Given the description of an element on the screen output the (x, y) to click on. 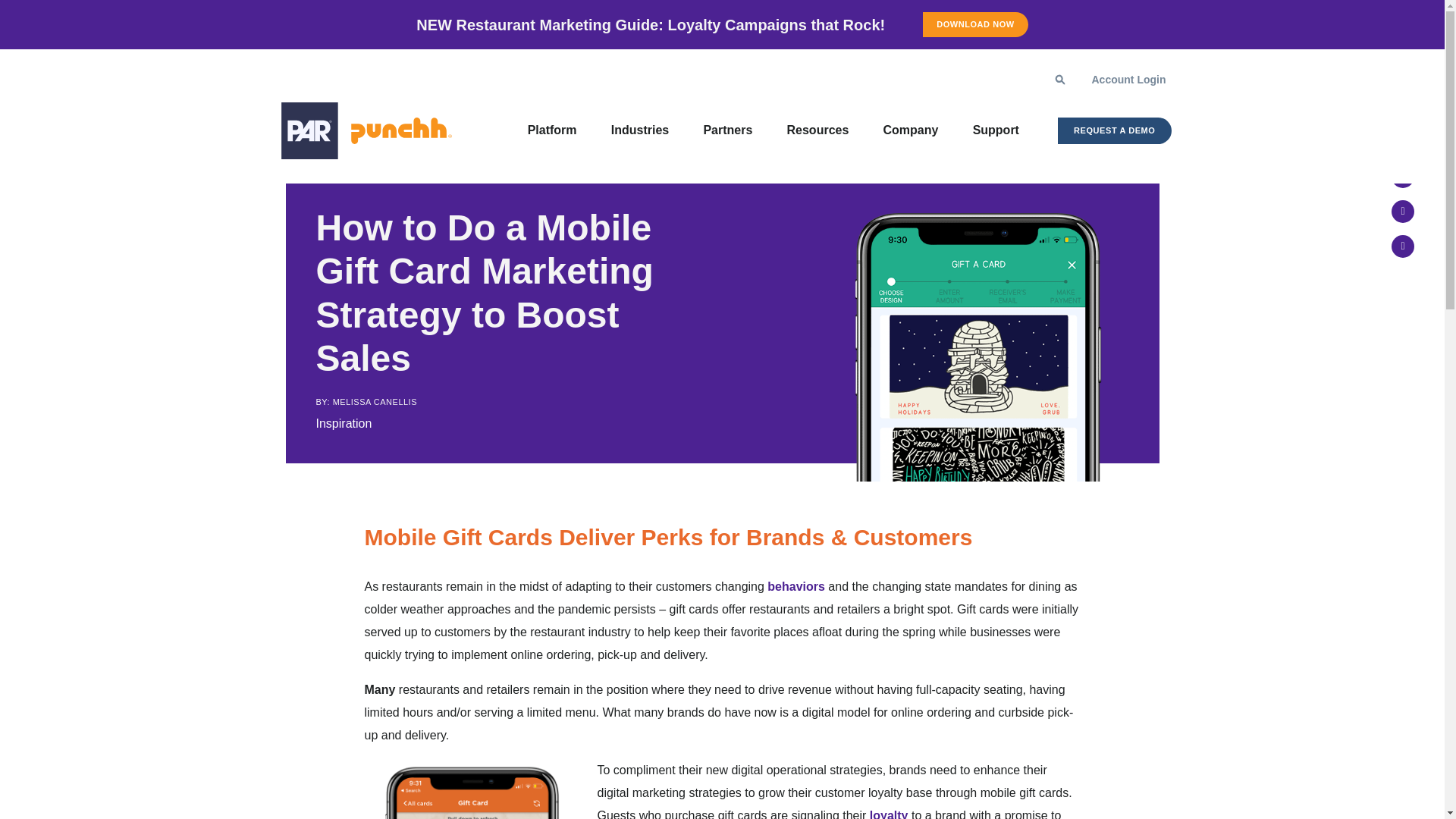
REQUEST A DEMO (1115, 130)
DOWNLOAD NOW (956, 24)
Resources (815, 130)
Company (908, 130)
Account Login (1129, 79)
Partners (726, 130)
Industries (638, 130)
Support (994, 130)
Platform (550, 130)
